Given the description of an element on the screen output the (x, y) to click on. 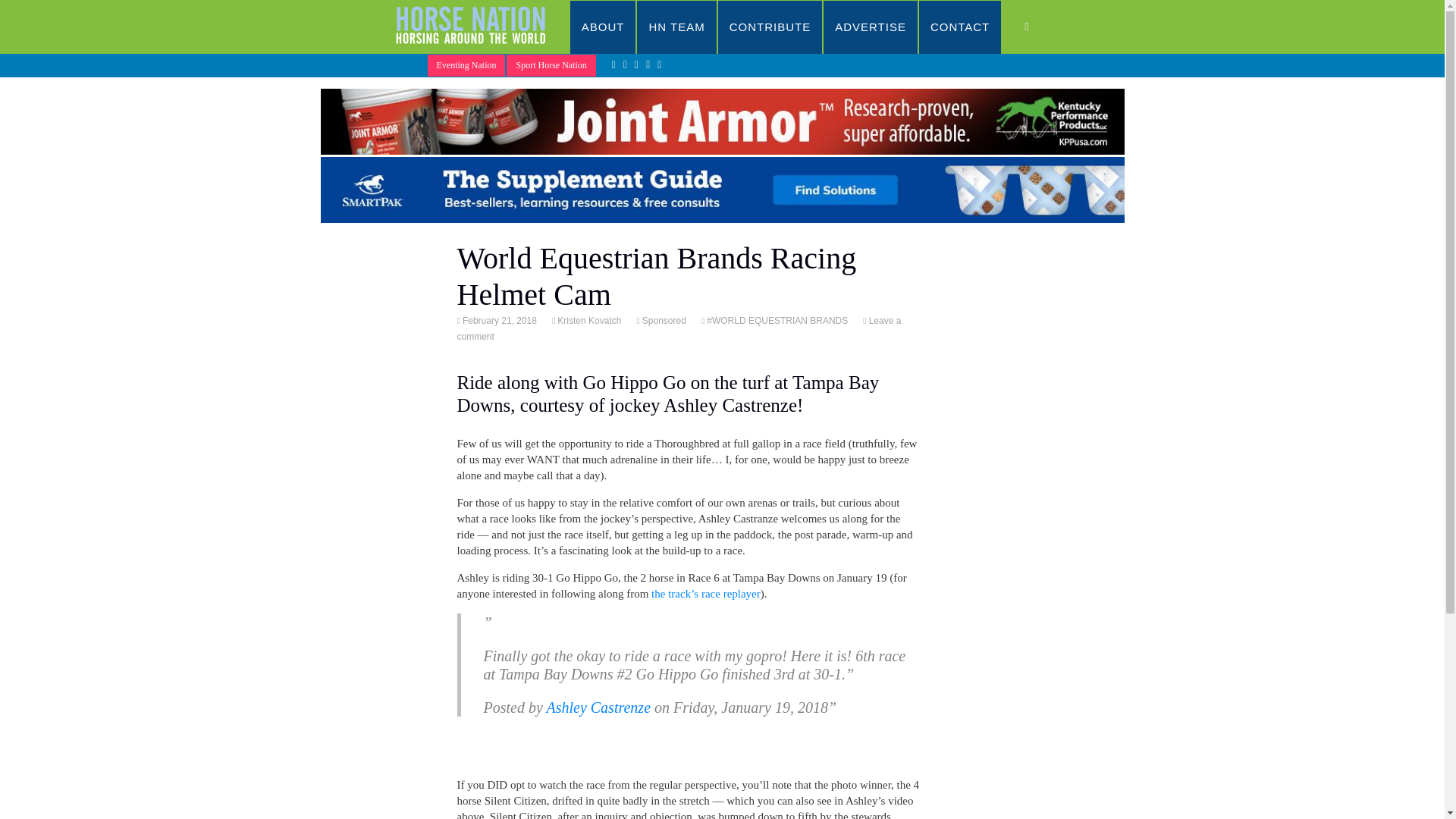
CONTRIBUTE (769, 27)
Permalink to World Equestrian Brands Racing Helmet Cam (498, 320)
February 21, 2018 (498, 320)
Sponsored (662, 320)
View all posts by Kristen Kovatch (587, 320)
CONTACT (959, 27)
Eventing Nation (466, 65)
ABOUT (603, 27)
Ashley Castrenze (598, 707)
SEARCH (1041, 27)
ADVERTISE (870, 27)
Kristen Kovatch (587, 320)
HN TEAM (676, 27)
Sport Horse Nation (550, 65)
Leave a comment (679, 328)
